Given the description of an element on the screen output the (x, y) to click on. 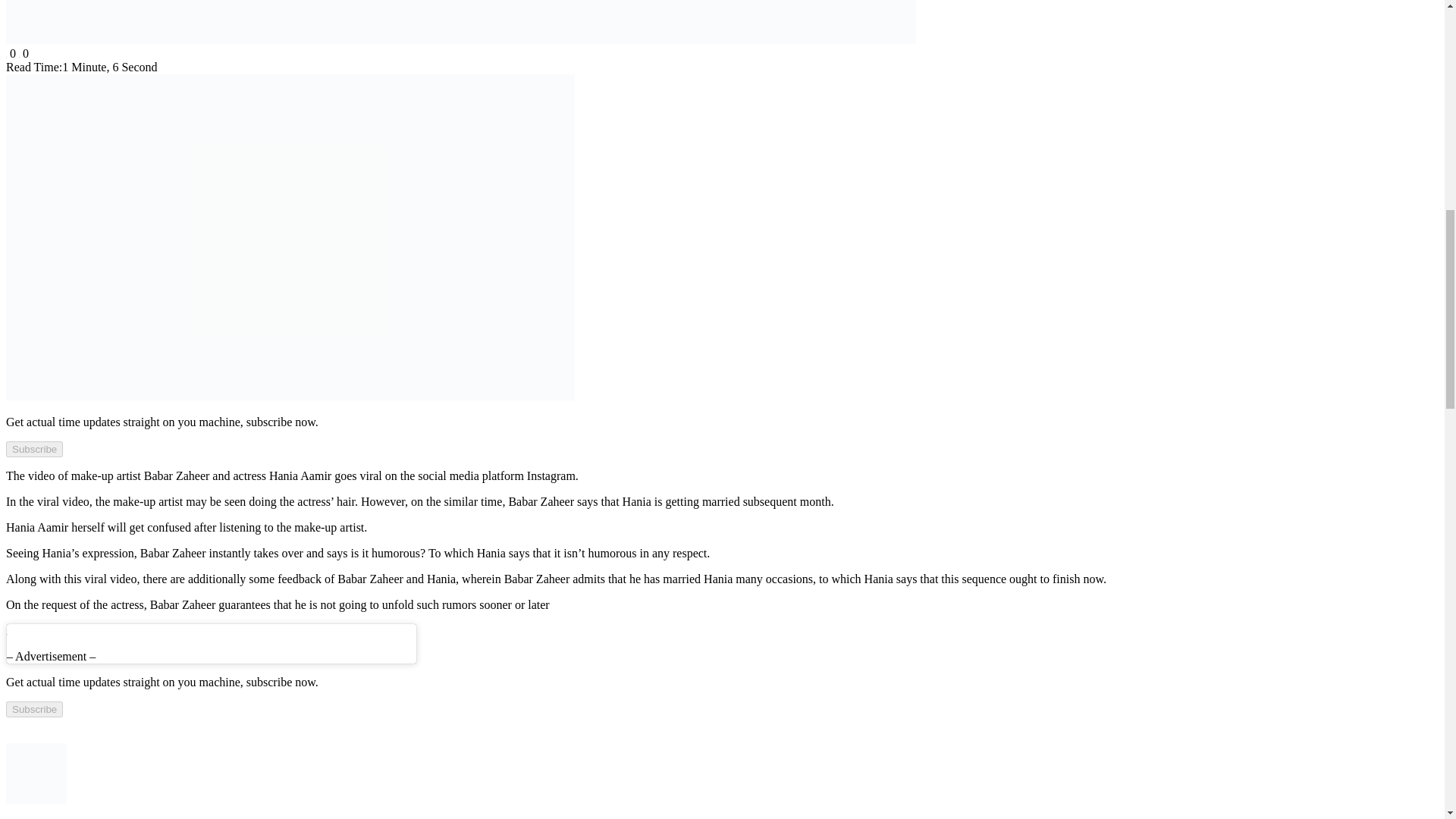
Browse Author Articles (35, 806)
Subscribe (33, 449)
Subscribe (33, 709)
